Given the description of an element on the screen output the (x, y) to click on. 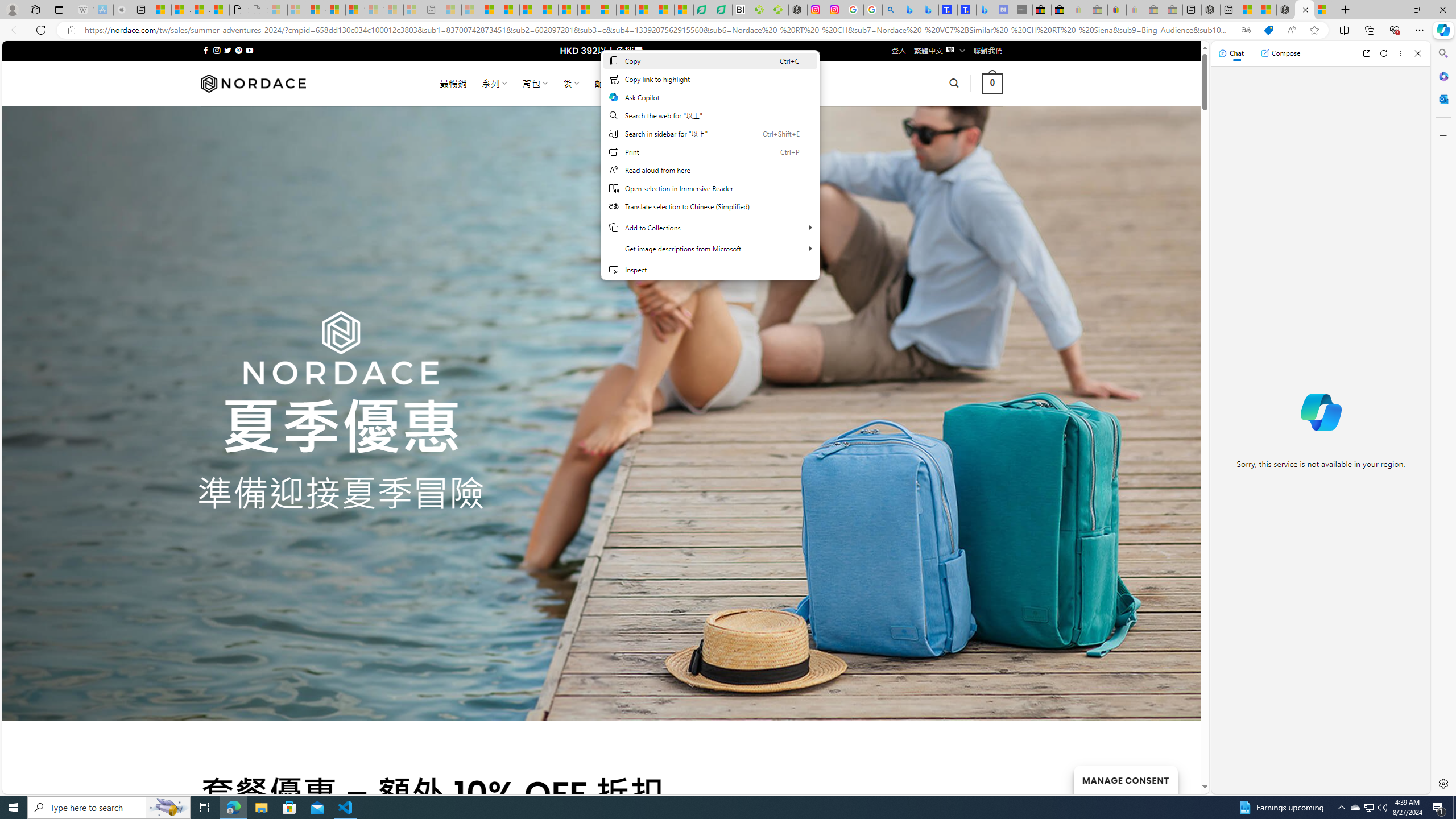
Buy iPad - Apple - Sleeping (123, 9)
Copy link to highlight (710, 78)
Read aloud from here (710, 170)
Compose (1280, 52)
Press Room - eBay Inc. - Sleeping (1154, 9)
